Given the description of an element on the screen output the (x, y) to click on. 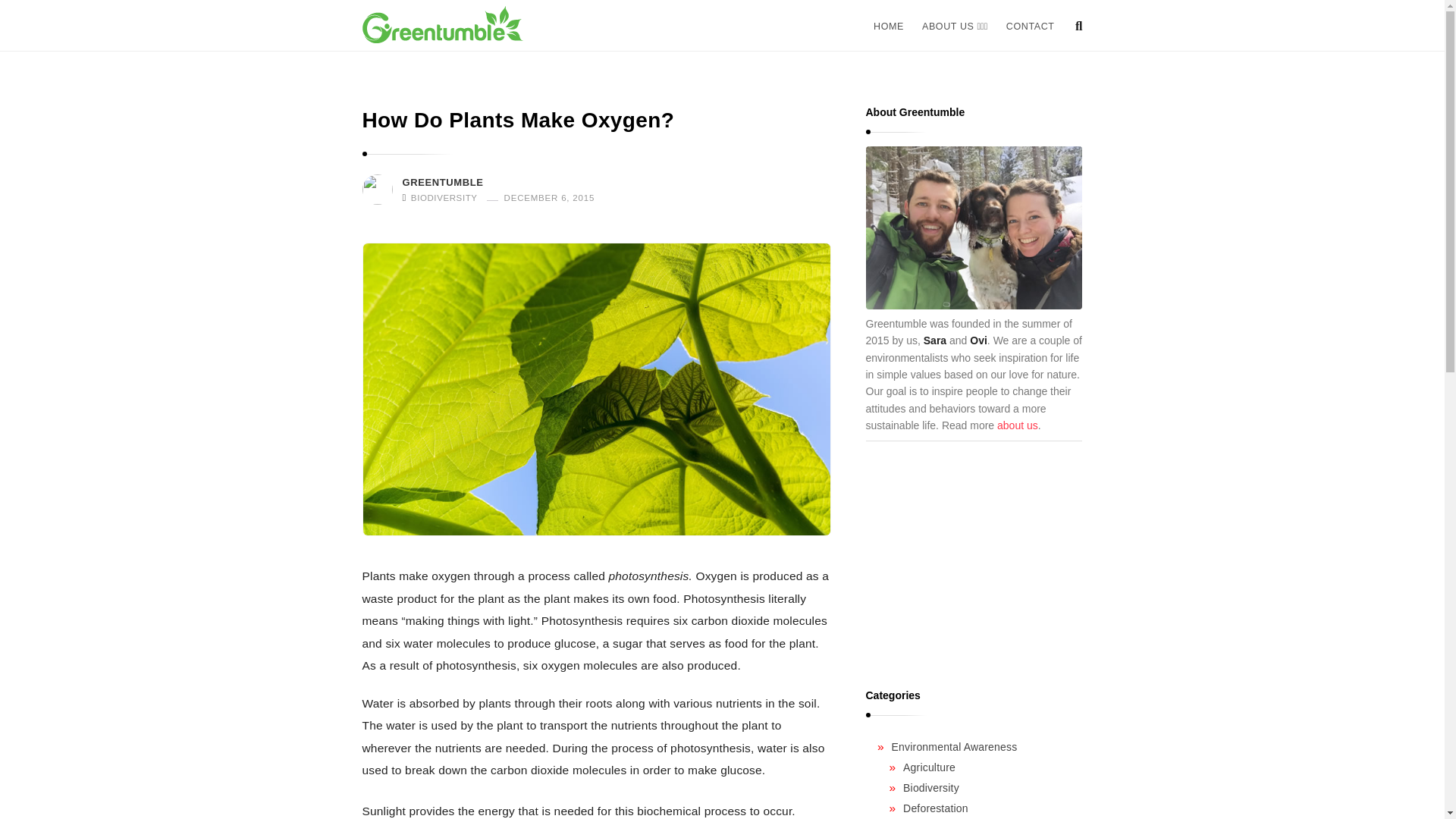
about us (1017, 425)
Deforestation (935, 808)
CONTACT (1030, 26)
DECEMBER 6, 2015 (545, 196)
Greentumble (442, 24)
Agriculture (928, 767)
Environmental Awareness (954, 746)
Biodiversity (930, 787)
BIODIVERSITY (443, 197)
HOME (888, 26)
GREENTUMBLE (442, 182)
